Given the description of an element on the screen output the (x, y) to click on. 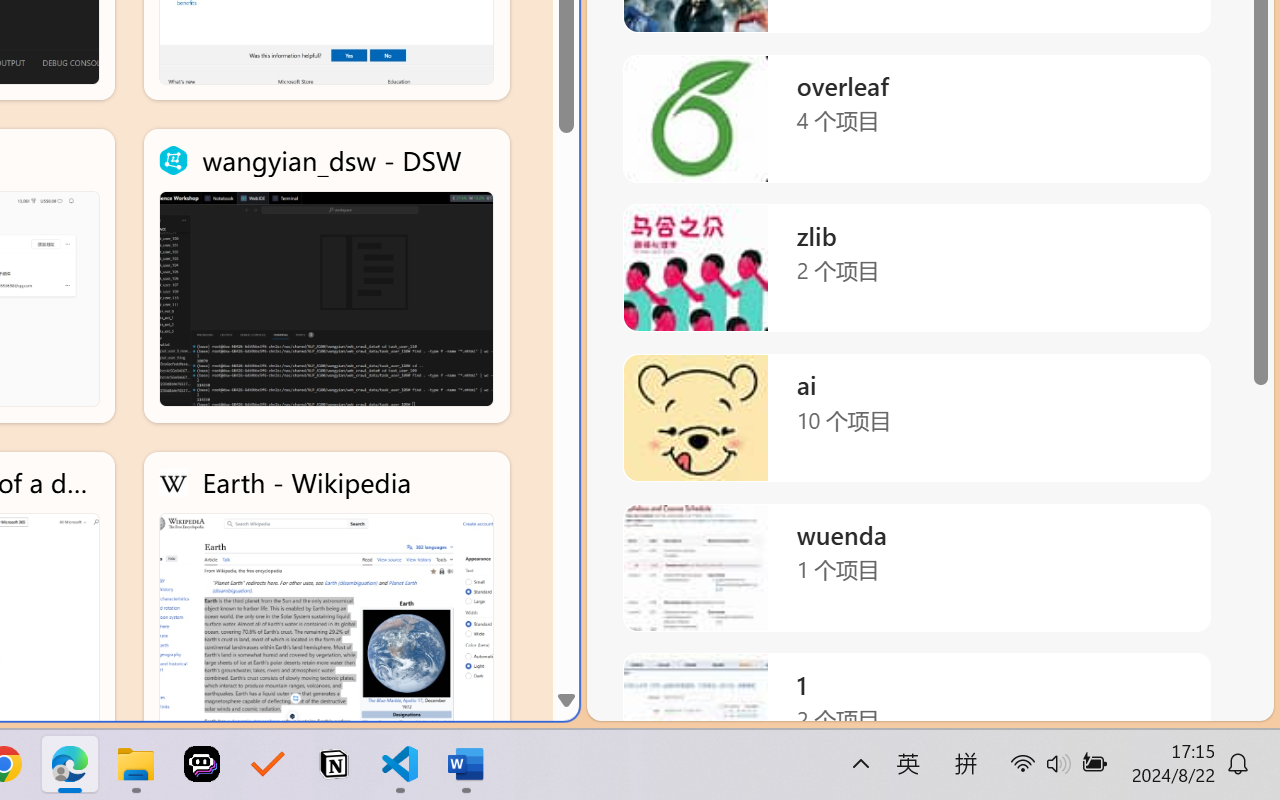
wangyian_dsw - DSW (326, 275)
Earth - Wikipedia (326, 598)
